Given the description of an element on the screen output the (x, y) to click on. 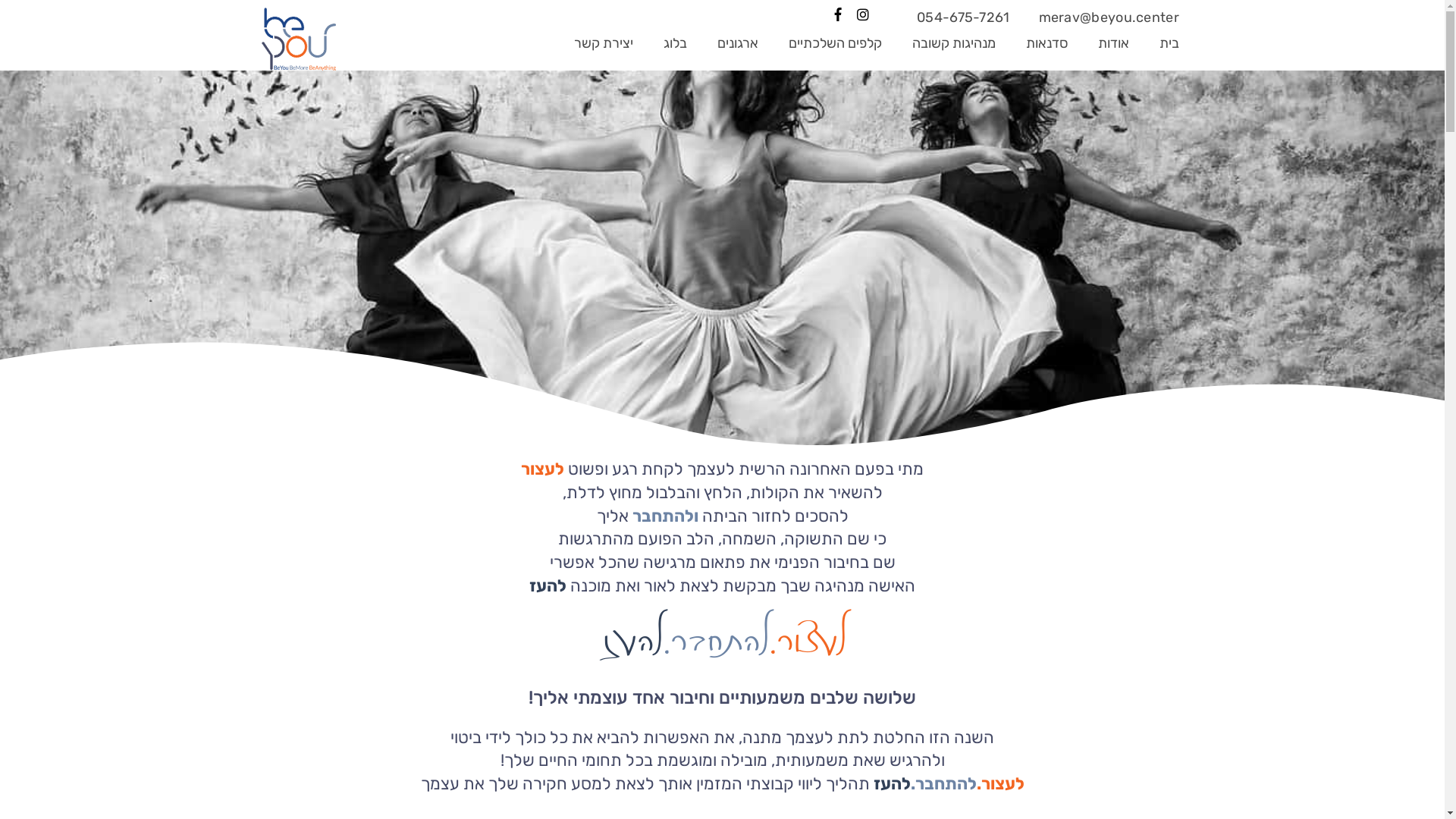
054-675-7261 Element type: text (963, 17)
merav@beyou.center Element type: text (1108, 17)
